Given the description of an element on the screen output the (x, y) to click on. 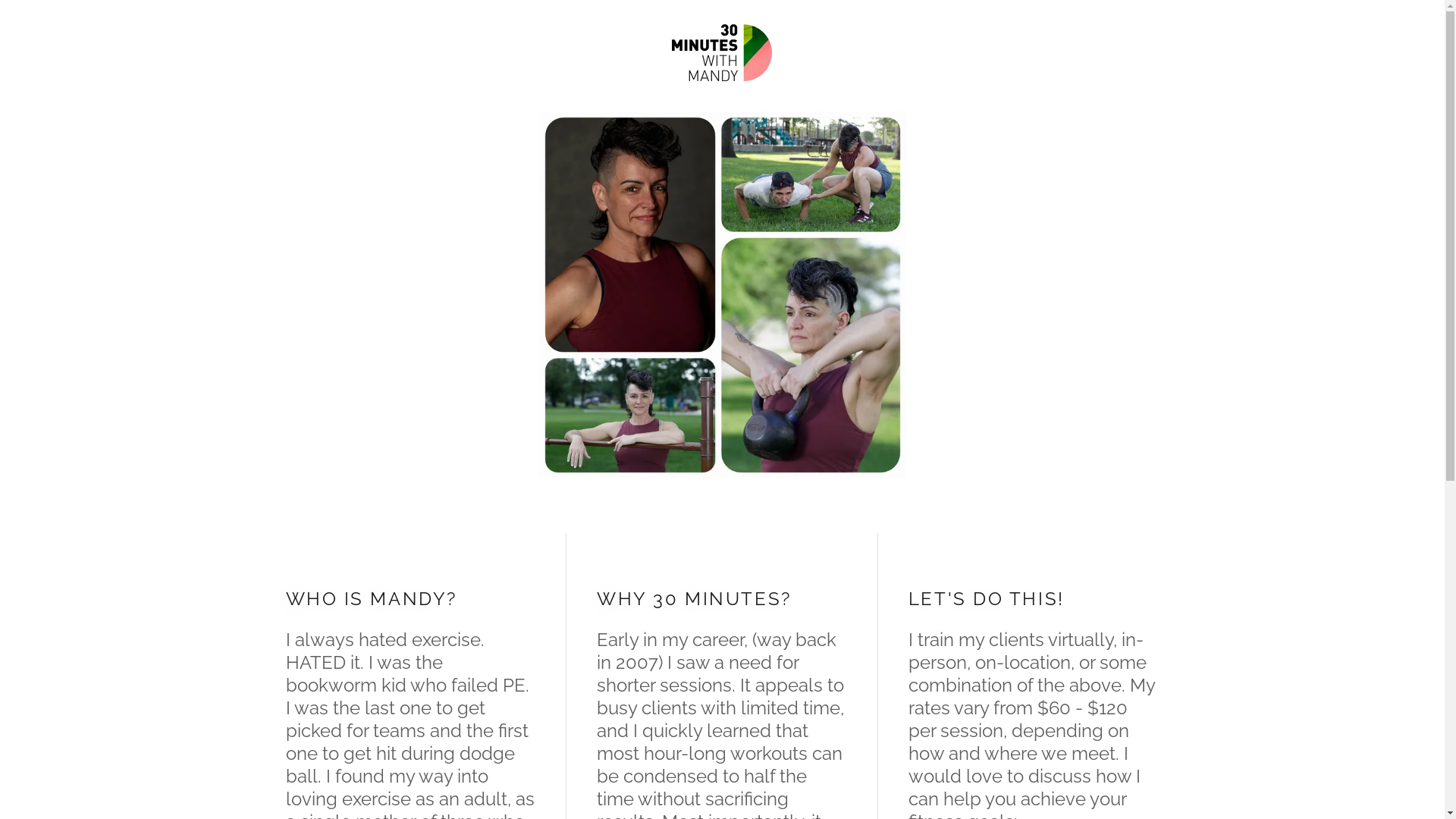
30 Minutes with Mandy Element type: hover (721, 51)
